Given the description of an element on the screen output the (x, y) to click on. 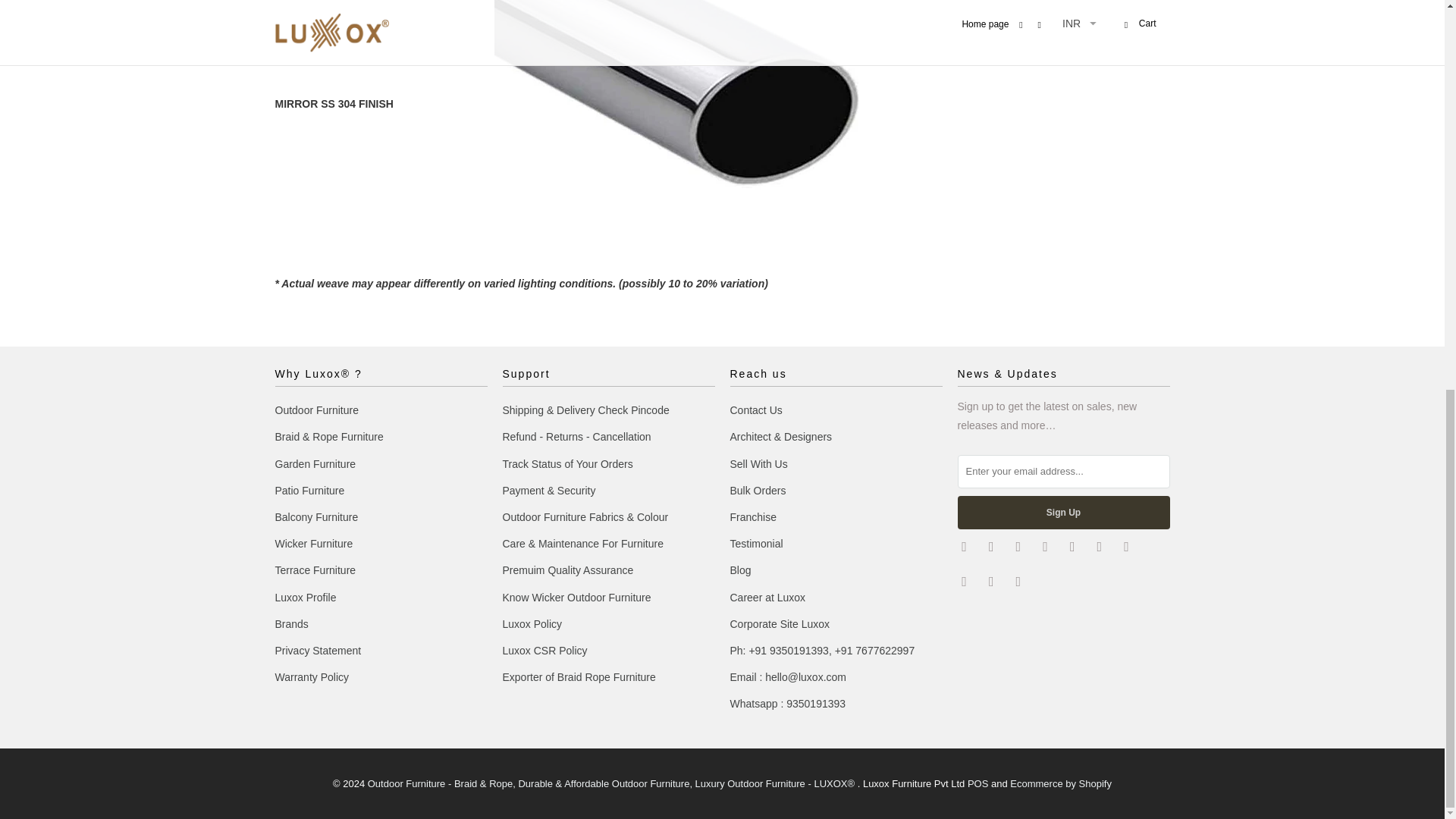
Wicker Furniture (313, 543)
Terrace Furniture (315, 570)
Balcony Furniture (316, 517)
Outdoor Furniture (316, 410)
Refund - Returns - Cancellation (576, 436)
Contact Us (755, 410)
Luxox Policy (532, 623)
Premuim Quality Assurance (567, 570)
Garden Furniture (315, 463)
Luxox CSR Policy (544, 650)
